Given the description of an element on the screen output the (x, y) to click on. 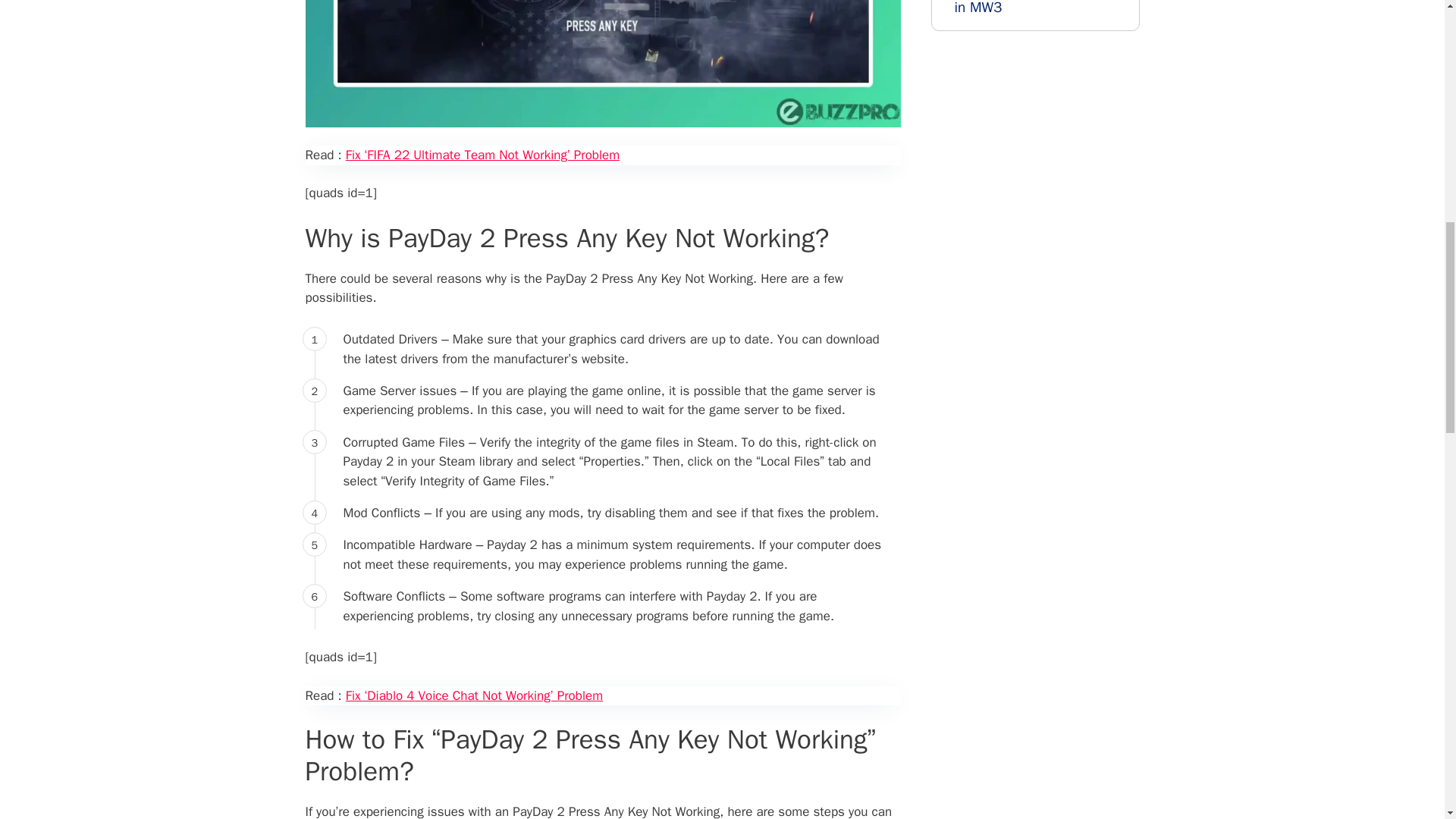
4 Methods to Fix for Zombies Mode Not Loading in MW3 (1039, 8)
